Given the description of an element on the screen output the (x, y) to click on. 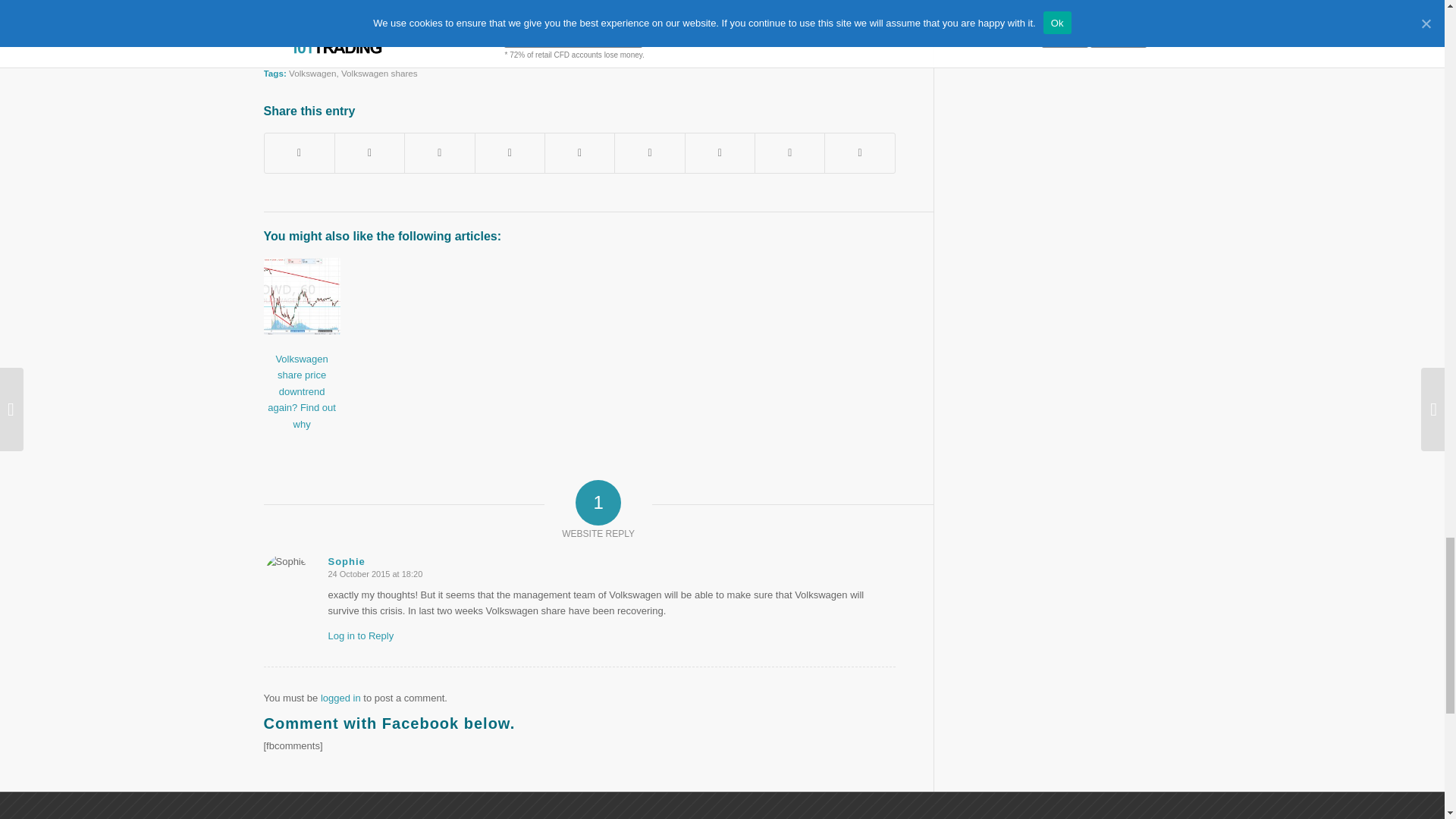
Ethereum: What is it? And why is it getting more popular? (420, 2)
Facebook stock is moving into a Bullish Trend (393, 18)
